Given the description of an element on the screen output the (x, y) to click on. 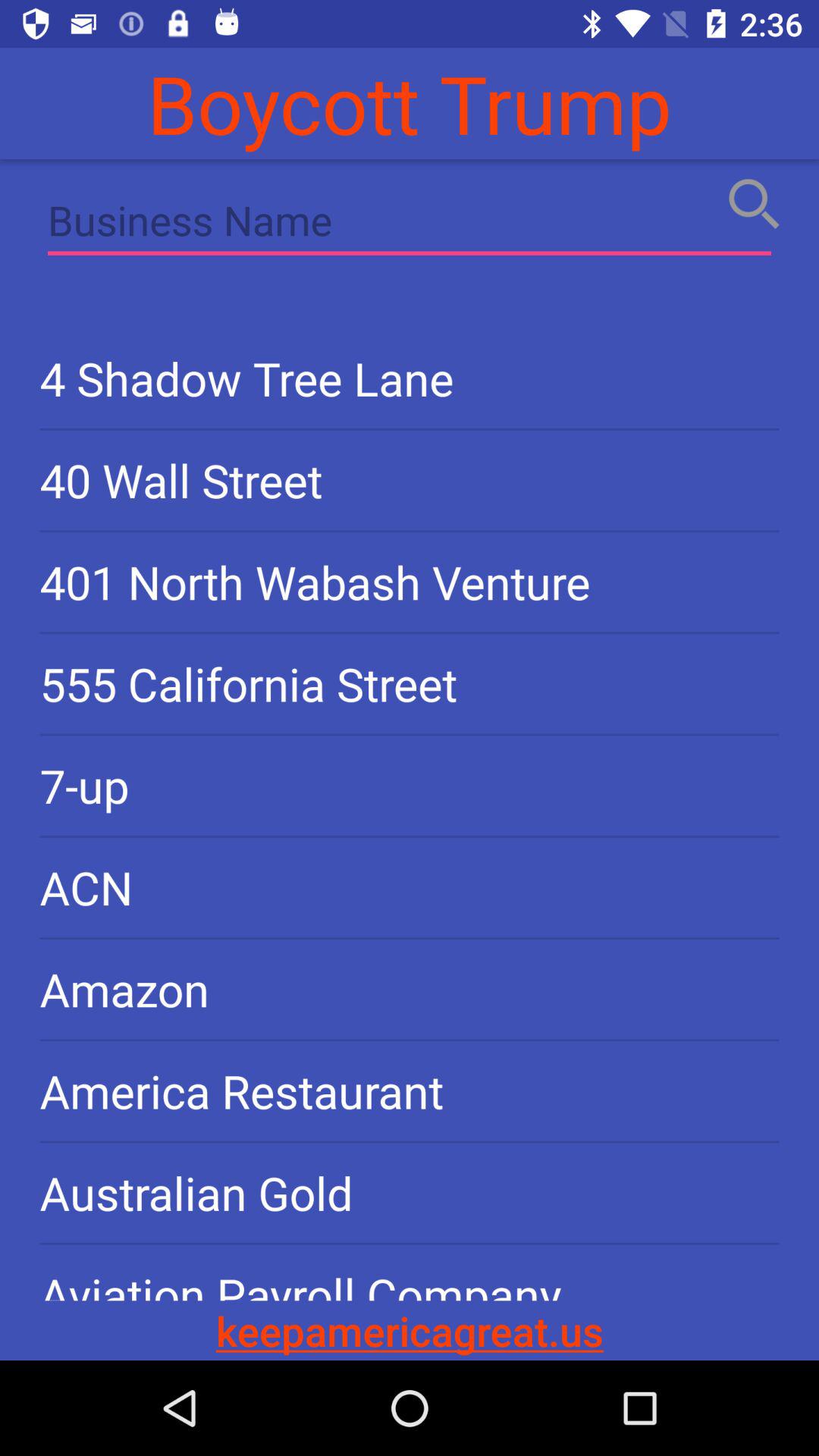
tap the icon below the aviation payroll company (409, 1330)
